Given the description of an element on the screen output the (x, y) to click on. 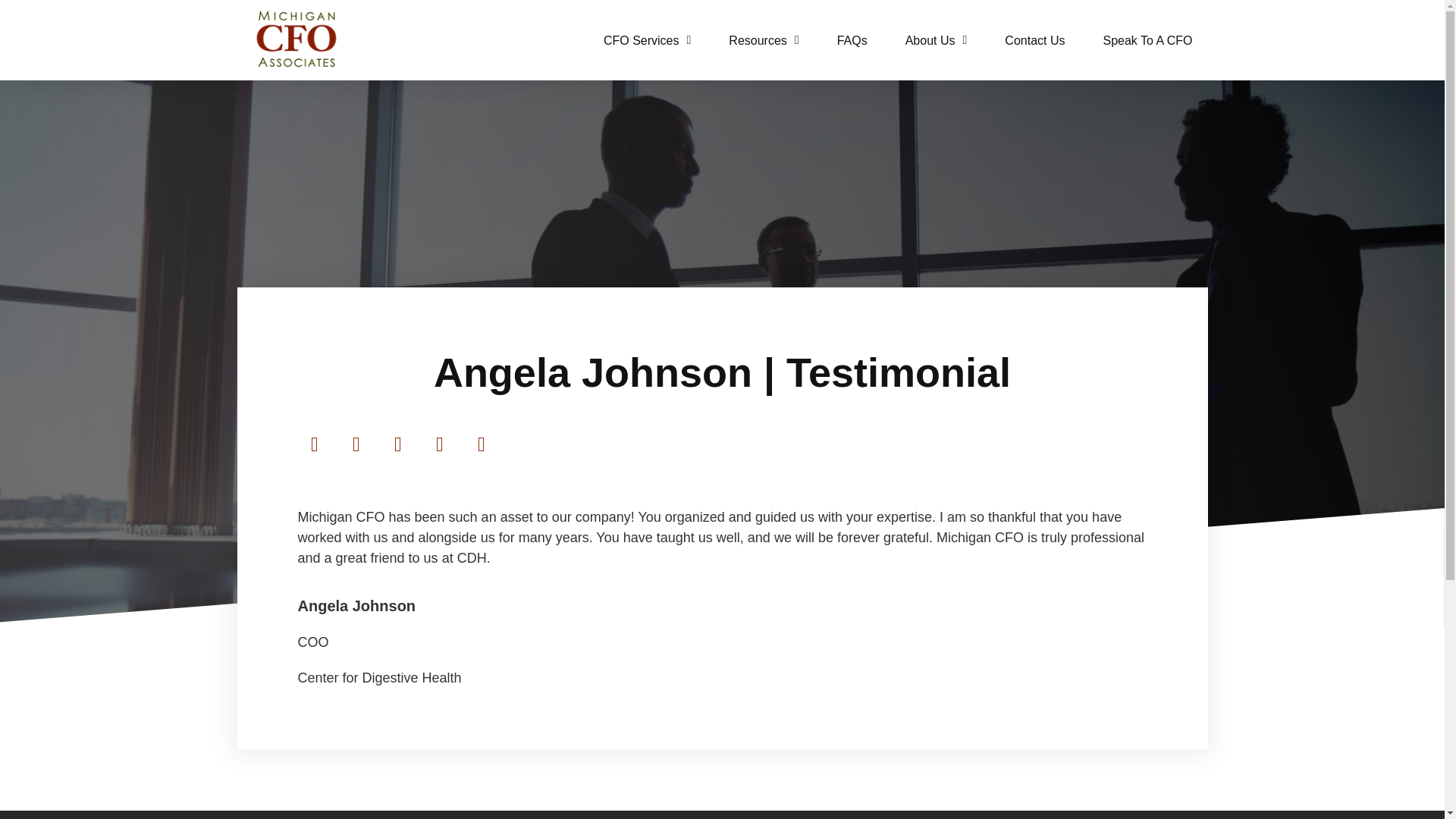
Contact Us (1034, 39)
Michigan CFO Associates (295, 39)
CFO Services (647, 39)
About Us (936, 39)
Speak To A CFO (1147, 39)
Resources (763, 39)
FAQs (852, 39)
